Given the description of an element on the screen output the (x, y) to click on. 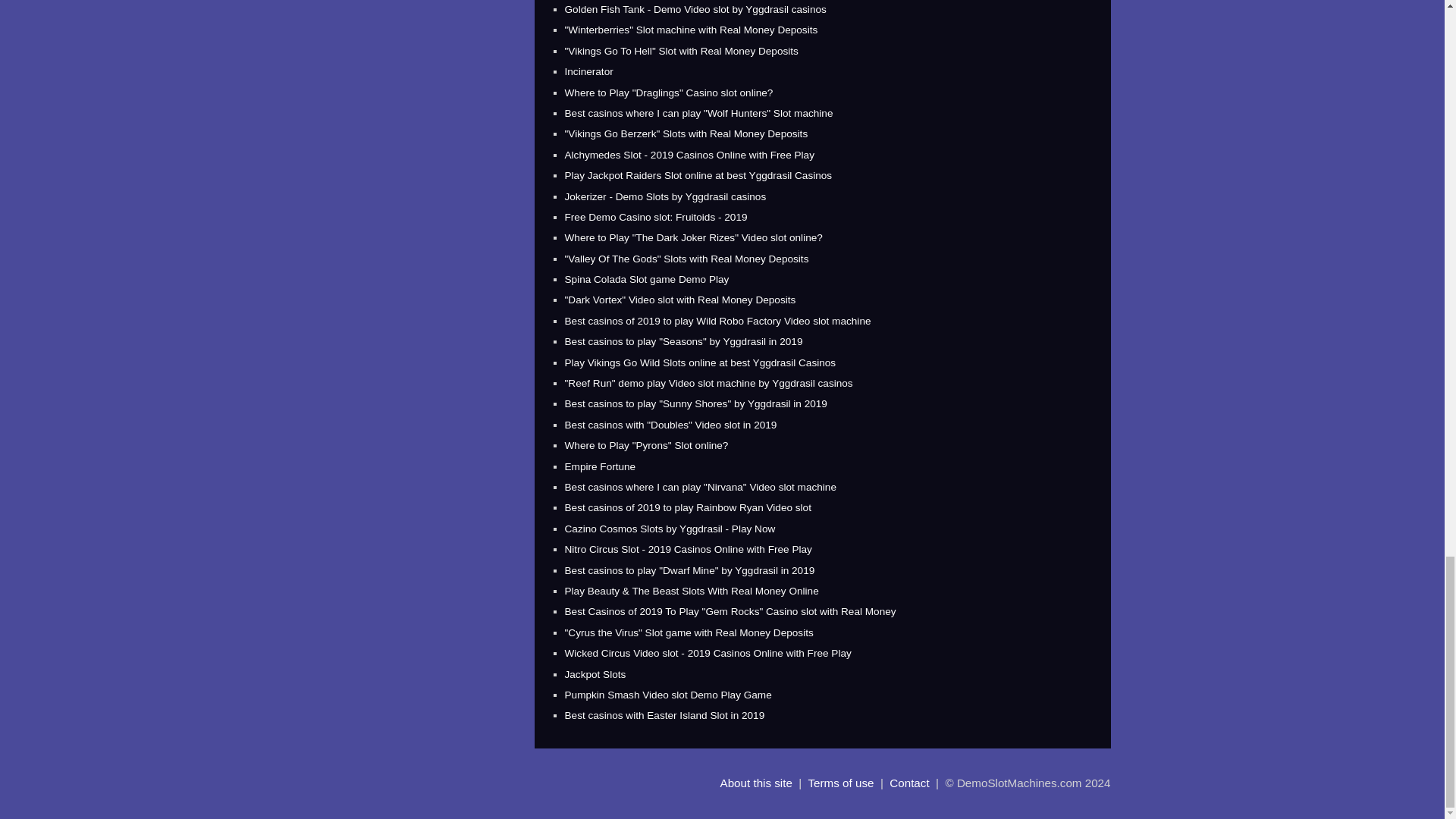
Best casinos where I can play "Wolf Hunters" Slot machine (698, 112)
Alchymedes Slot - 2019 Casinos Online with Free Play (688, 154)
"Winterberries" Slot machine with Real Money Deposits (690, 30)
Golden Fish Tank - Demo Video slot by Yggdrasil casinos (694, 9)
"Vikings Go Berzerk" Slots with Real Money Deposits (686, 133)
"Vikings Go To Hell" Slot with Real Money Deposits (680, 50)
Incinerator (588, 71)
Where to Play "Draglings" Casino slot online? (668, 92)
